Given the description of an element on the screen output the (x, y) to click on. 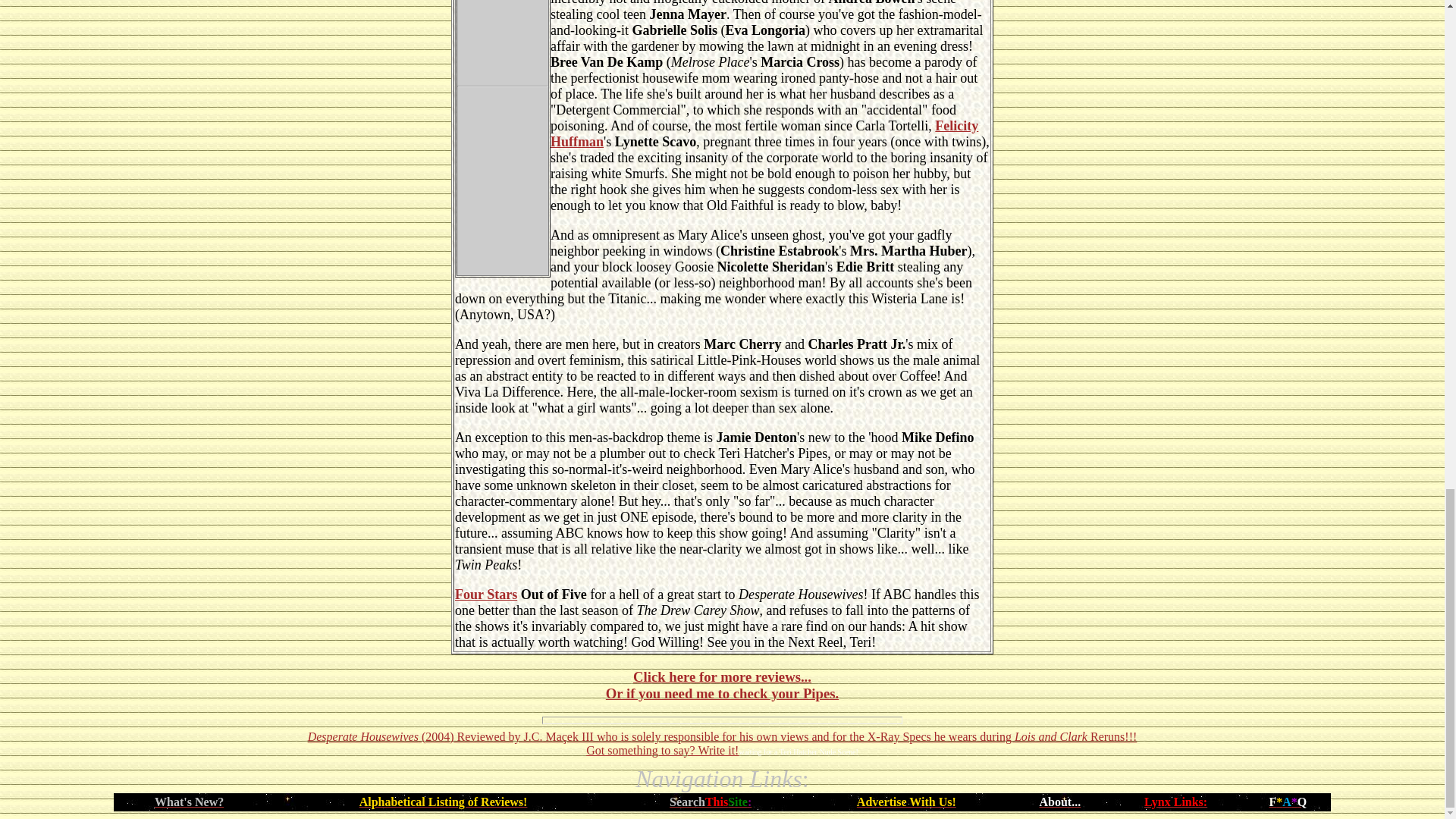
SearchThisSite: (710, 801)
Lynx Links: (1175, 801)
Felicity Huffman (764, 133)
Four Stars (485, 594)
Advertise With Us! (906, 801)
What's New? (189, 801)
Alphabetical Listing of Reviews! (443, 801)
About... (1059, 801)
